Given the description of an element on the screen output the (x, y) to click on. 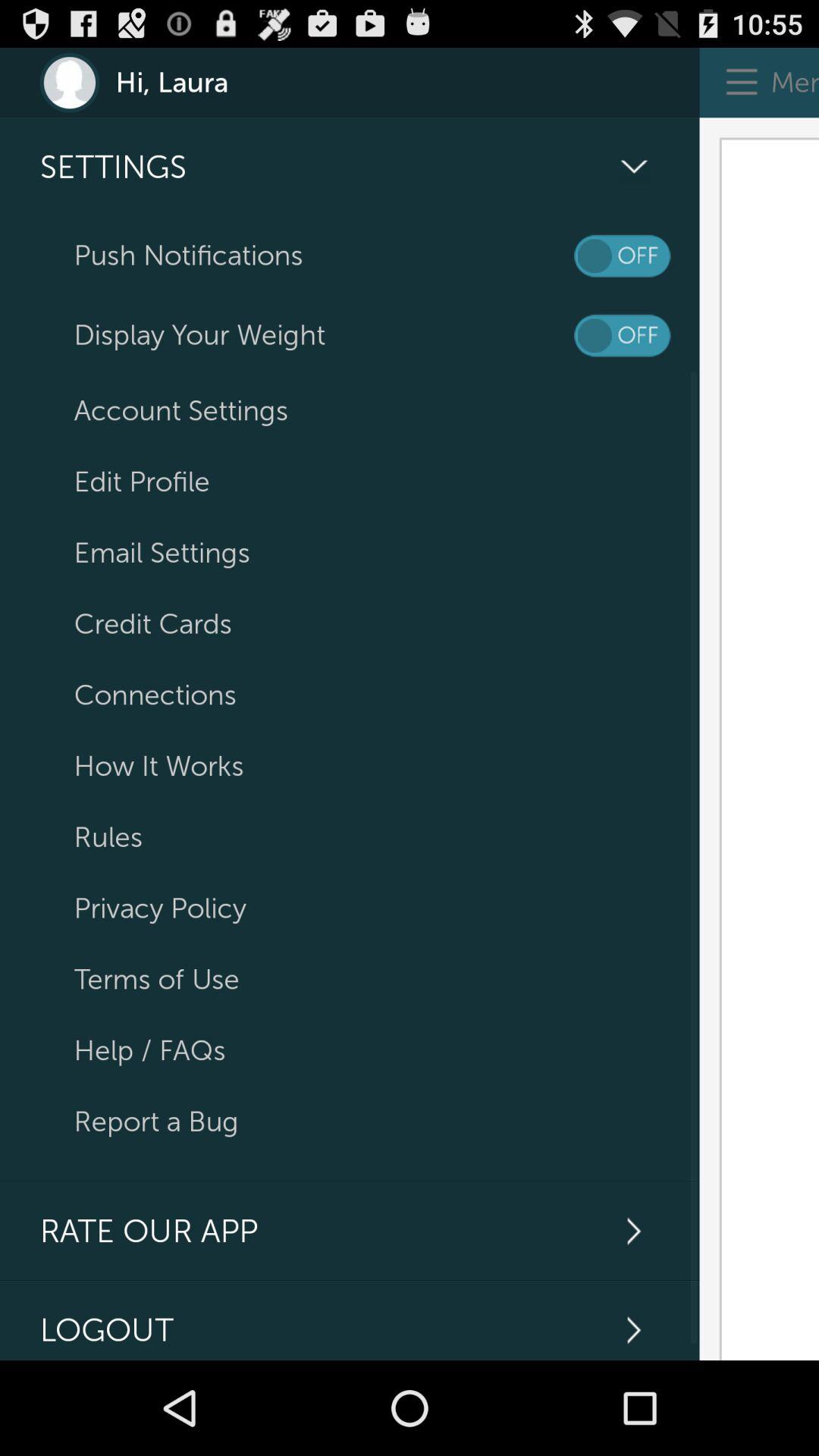
toggle display (622, 335)
